Given the description of an element on the screen output the (x, y) to click on. 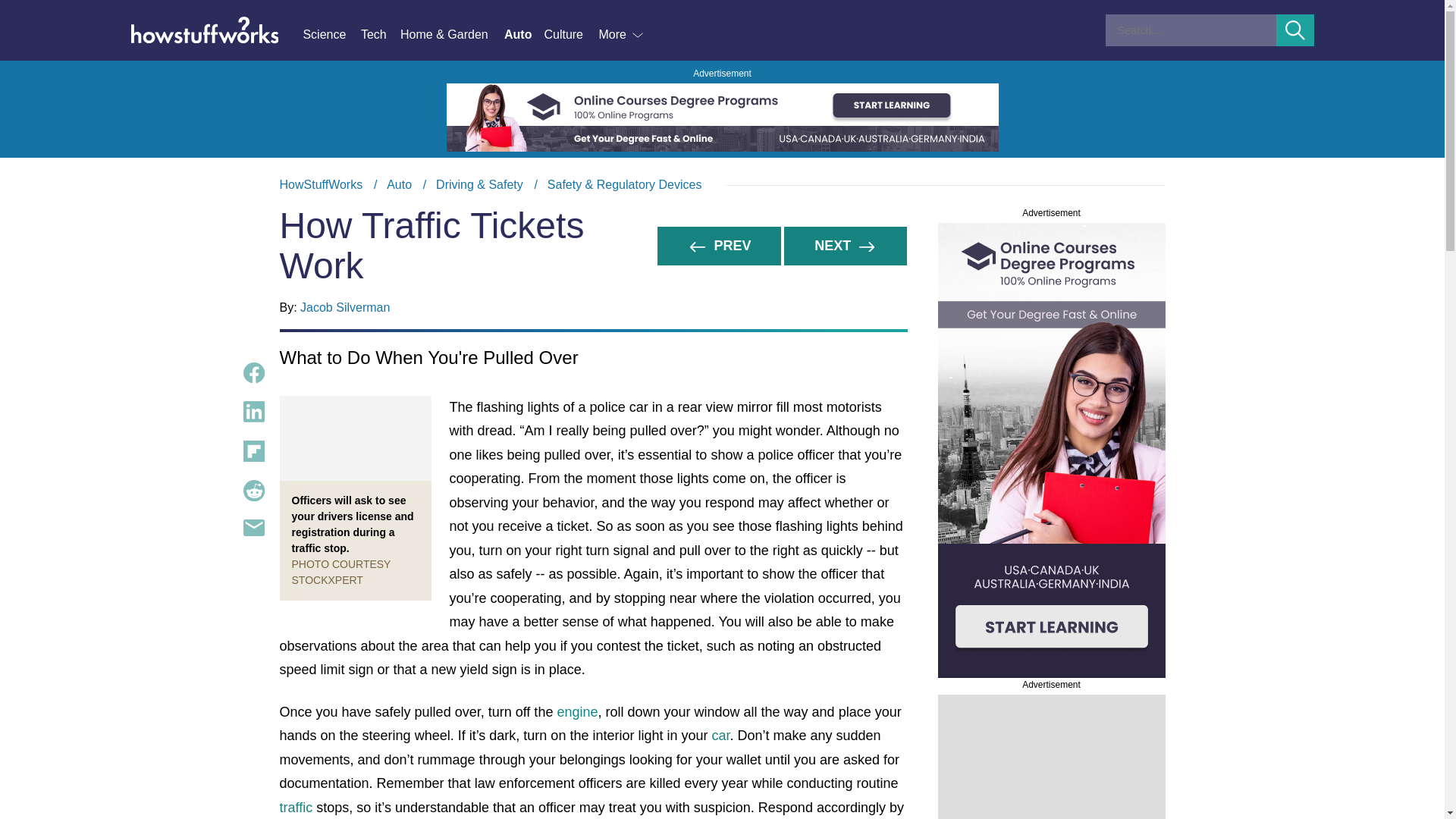
HowStuffWorks (320, 184)
Culture (570, 34)
Auto (399, 184)
Auto (523, 34)
Share Content on Flipboard (253, 450)
Submit Search (1295, 29)
Share Content on LinkedIn (253, 411)
Tech (380, 34)
Share Content on Reddit (253, 490)
Science (330, 34)
